Given the description of an element on the screen output the (x, y) to click on. 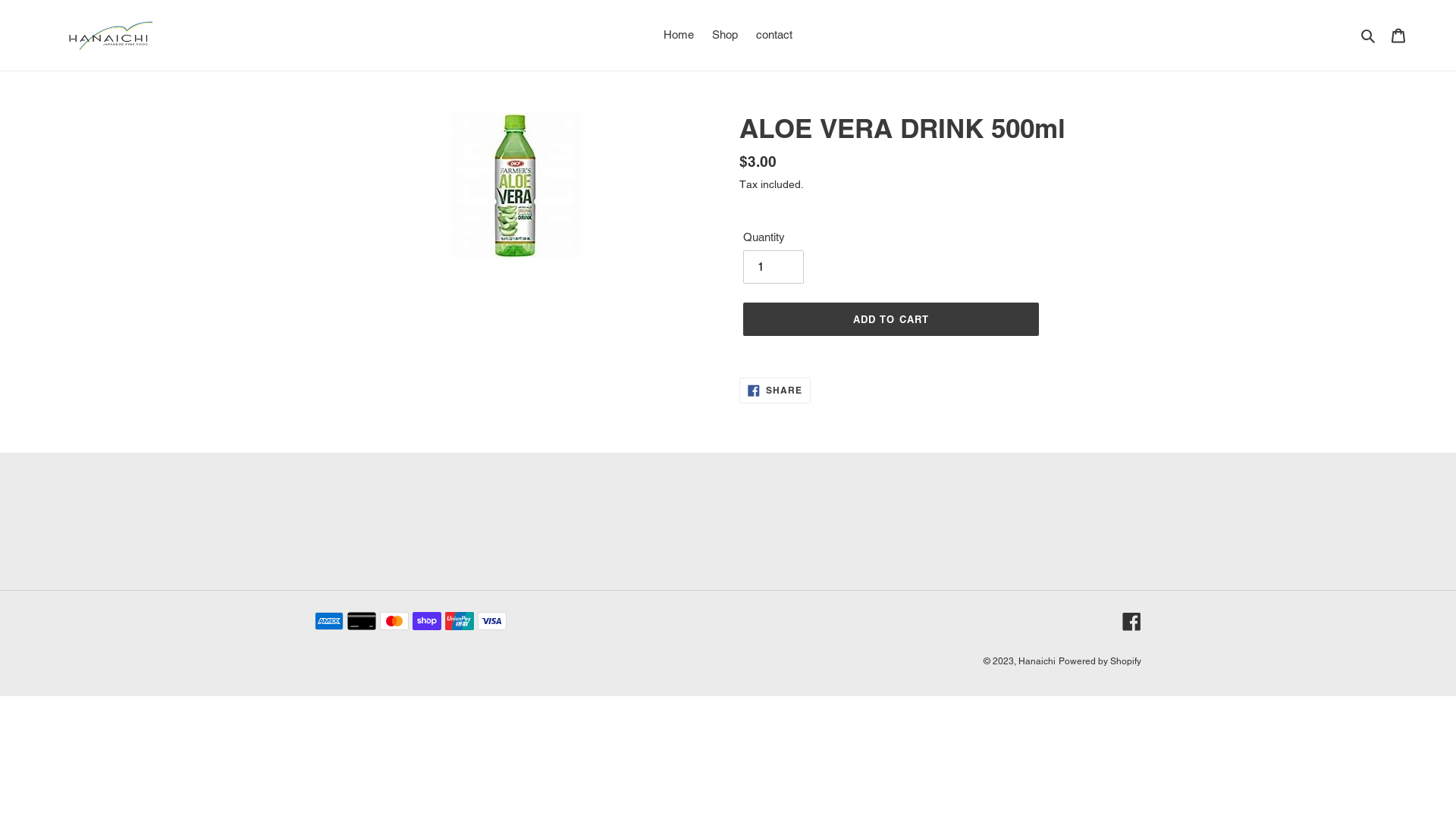
Home Element type: text (678, 35)
Facebook Element type: text (1131, 620)
Shop Element type: text (724, 35)
Powered by Shopify Element type: text (1099, 660)
Cart Element type: text (1398, 34)
Hanaichi Element type: text (1036, 660)
ADD TO CART Element type: text (890, 318)
SHARE
SHARE ON FACEBOOK Element type: text (774, 390)
contact Element type: text (774, 35)
Search Element type: text (1368, 34)
